Given the description of an element on the screen output the (x, y) to click on. 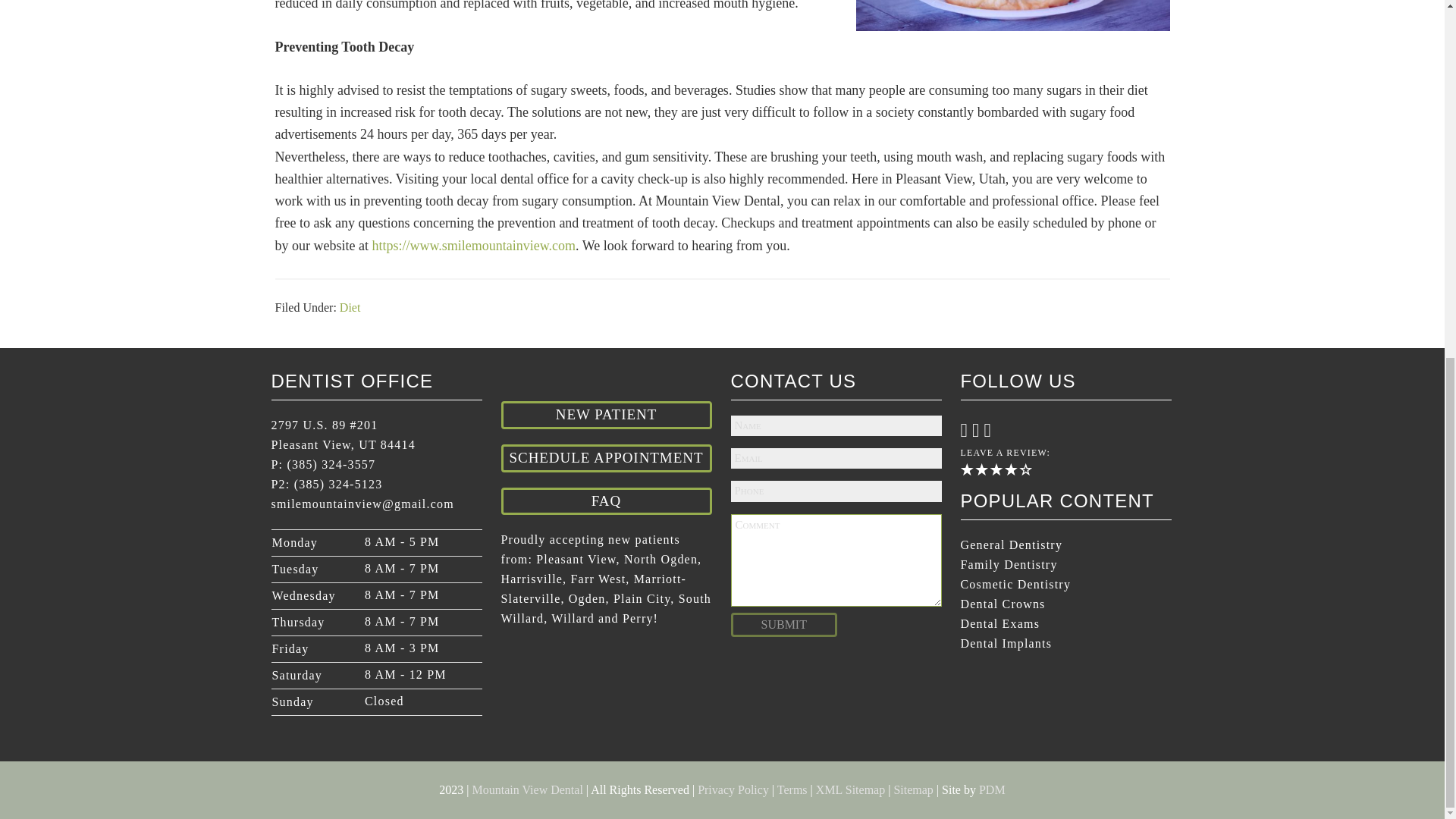
Review Stars (994, 469)
Diet (350, 307)
Why Sugar Is So Damaging To Your Teeth (1012, 15)
Submit (783, 623)
Ogden SEO (992, 789)
